Given the description of an element on the screen output the (x, y) to click on. 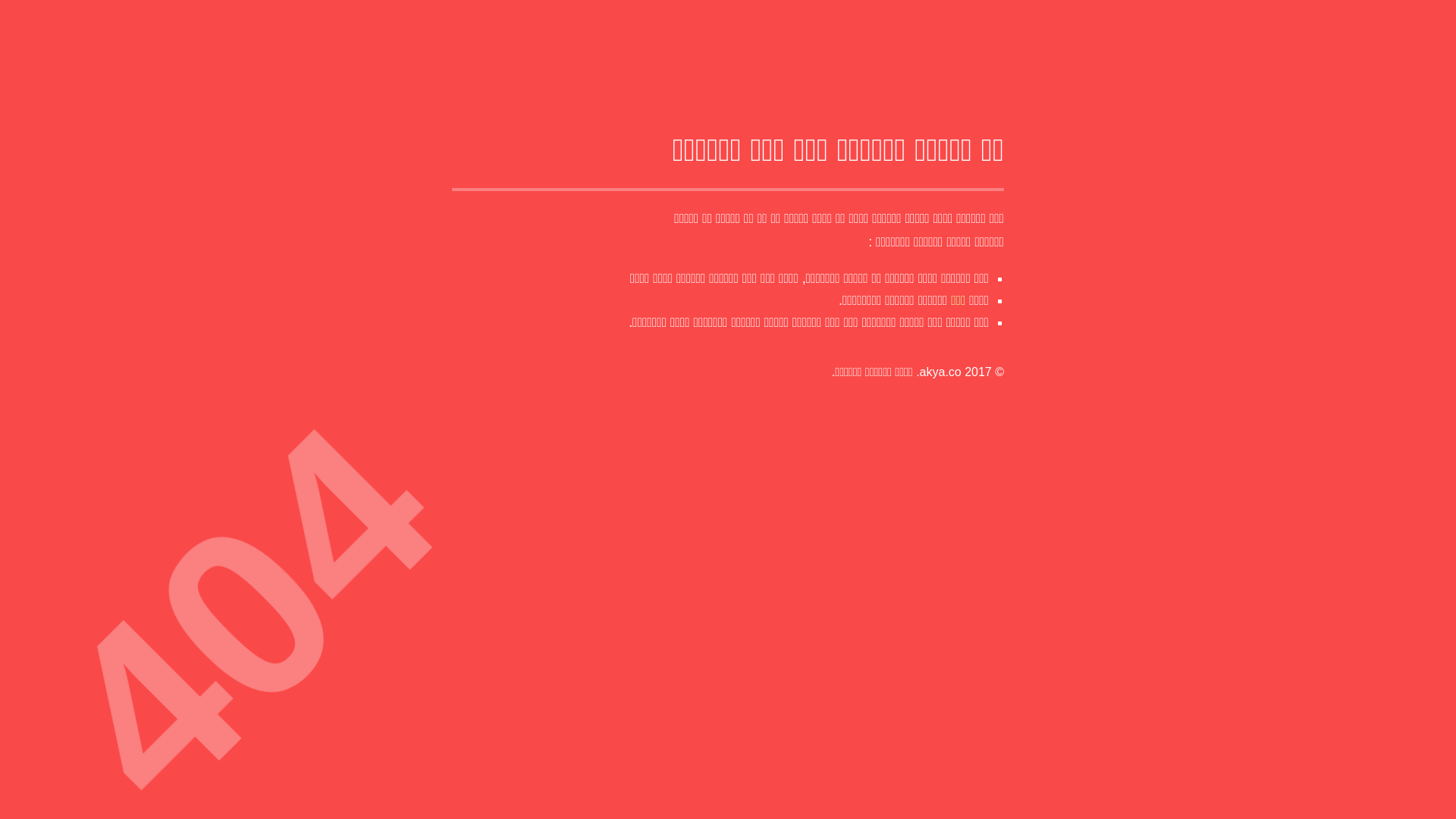
akya.co Element type: text (940, 371)
